Given the description of an element on the screen output the (x, y) to click on. 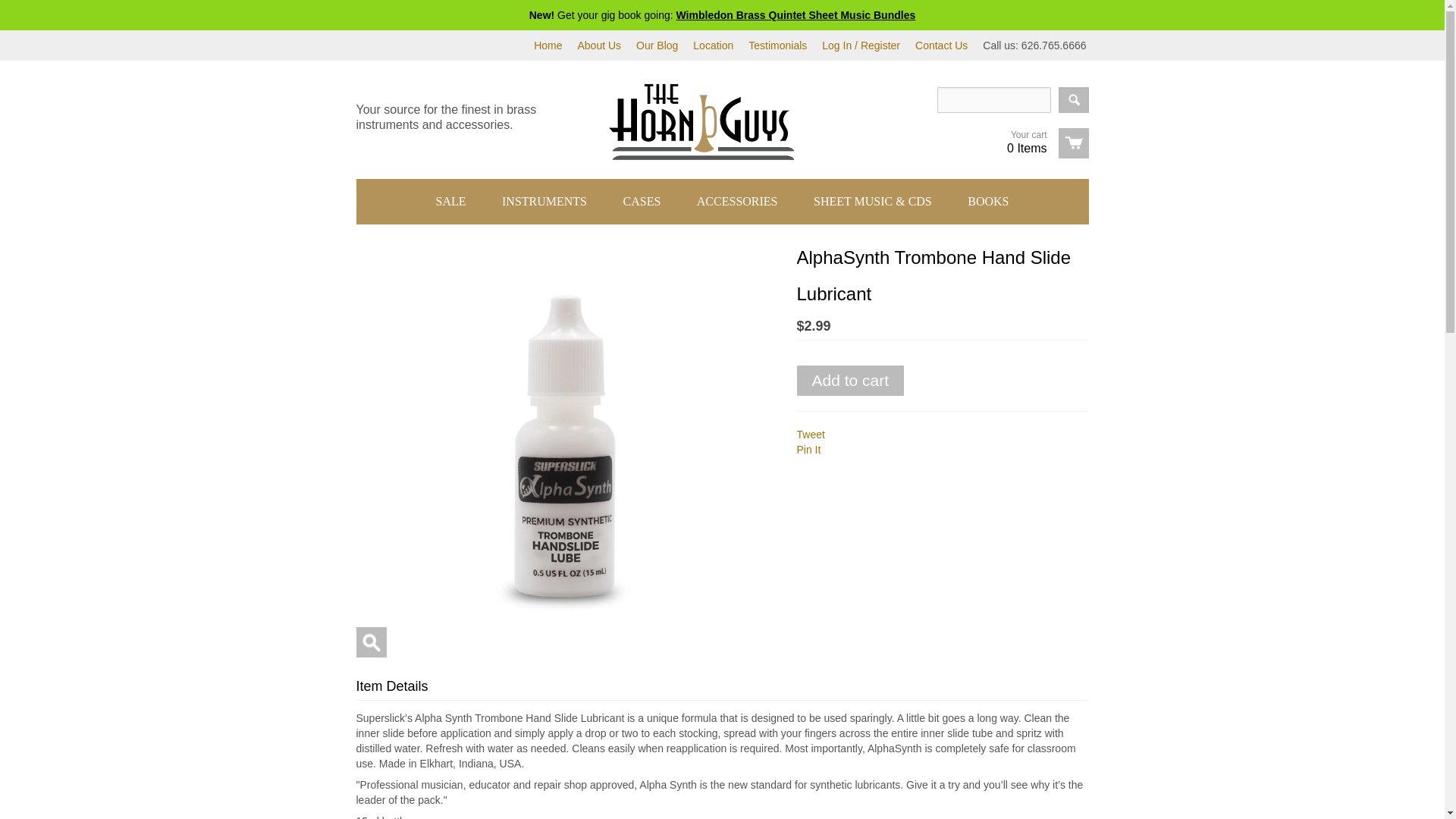
Go (1073, 99)
Enlarge Image (371, 642)
Testimonials (777, 45)
Go (1073, 99)
Location (713, 45)
SALE (450, 201)
Tweet (810, 434)
BOOKS (987, 201)
INSTRUMENTS (544, 201)
Our Blog (657, 45)
ACCESSORIES (737, 201)
Add to cart (850, 380)
Add to cart (850, 380)
Contact Us (941, 45)
Pin It (808, 449)
